Given the description of an element on the screen output the (x, y) to click on. 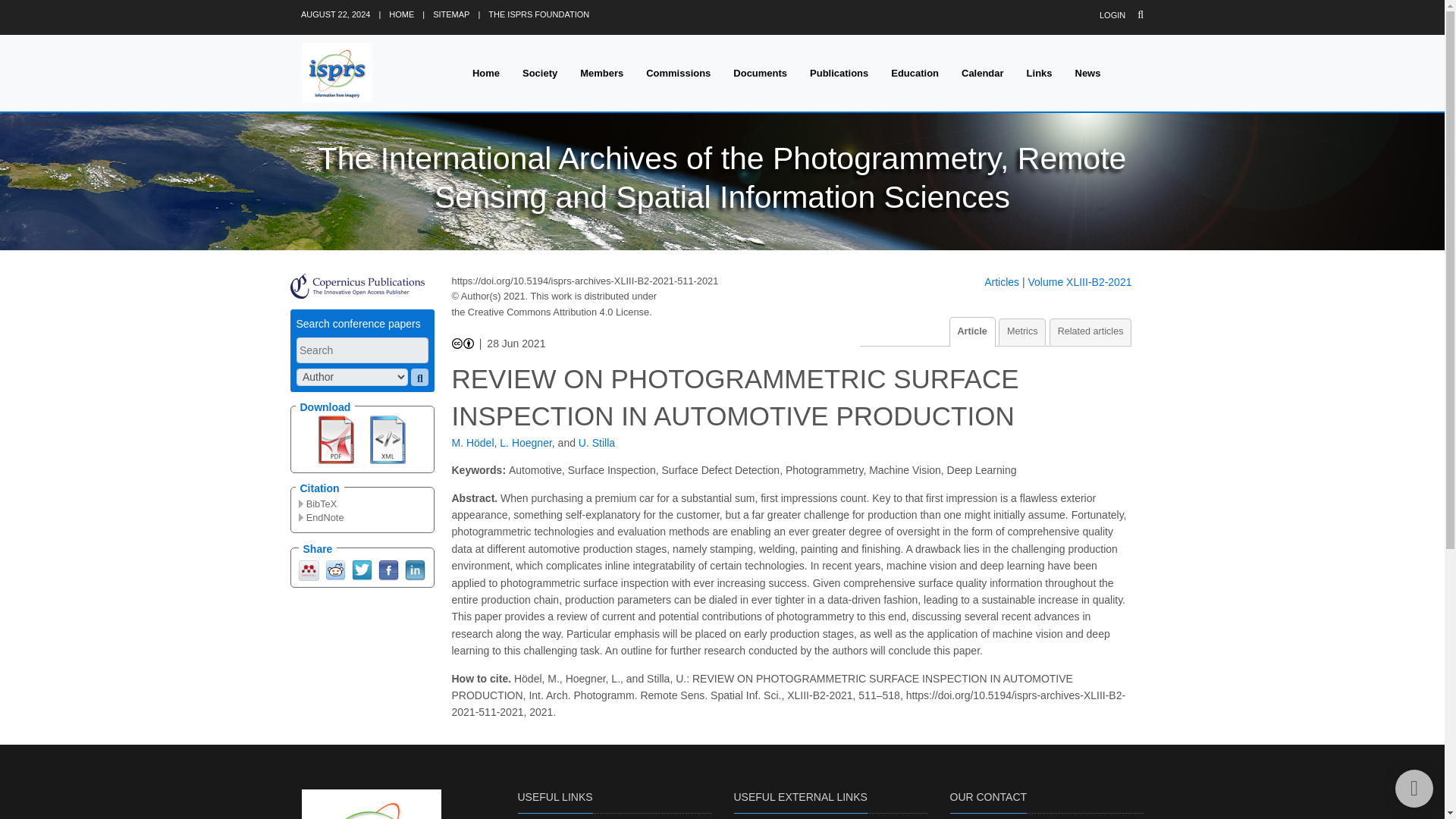
Society (539, 73)
HOME (400, 13)
Home (485, 73)
THE ISPRS FOUNDATION (538, 13)
LOGIN (1112, 14)
SITEMAP (450, 13)
